Given the description of an element on the screen output the (x, y) to click on. 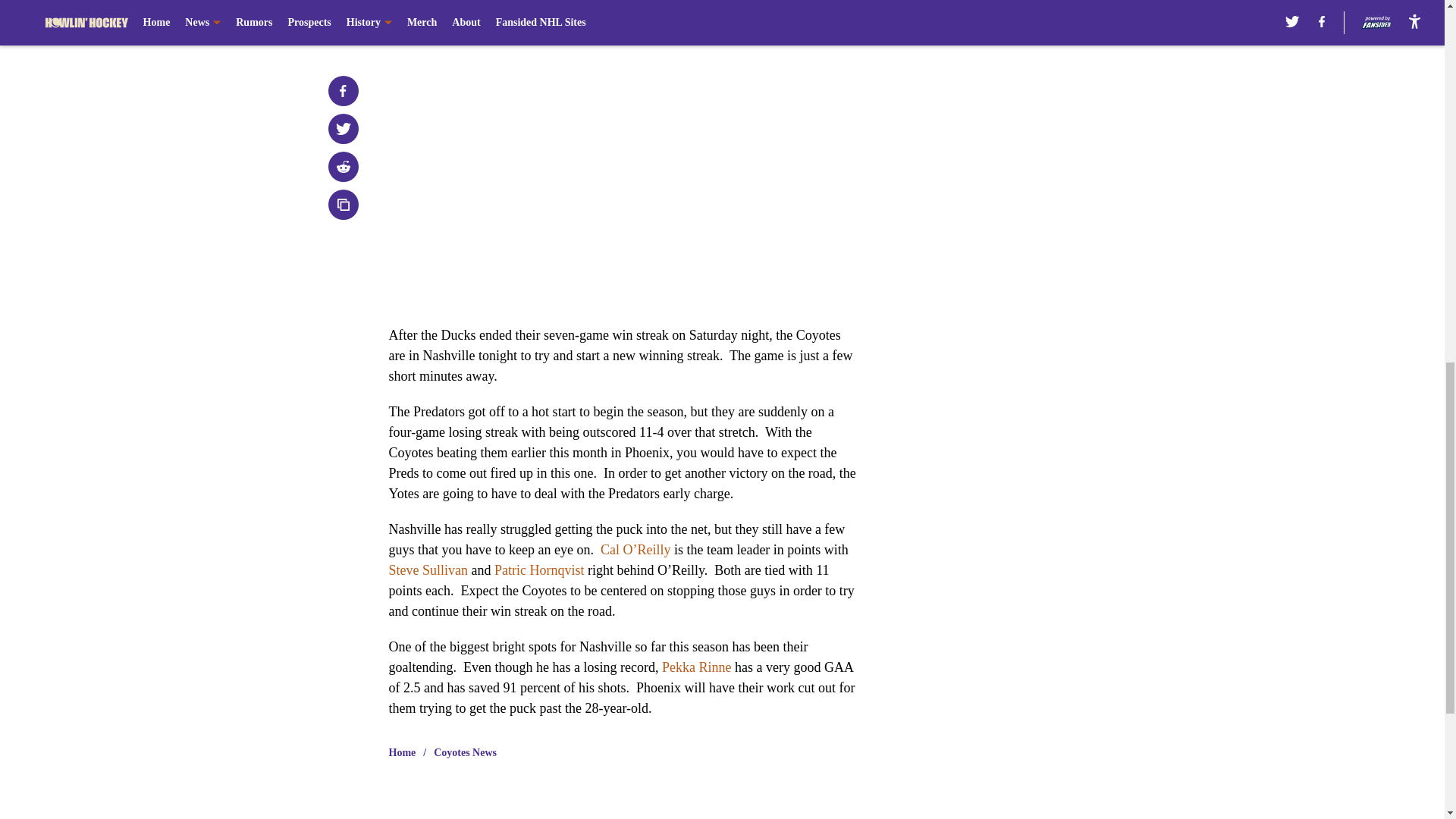
Steve Sullivan (427, 570)
Patric Hornqvist (540, 570)
Pekka Rinne (697, 667)
Home (401, 752)
Coyotes News (464, 752)
